Given the description of an element on the screen output the (x, y) to click on. 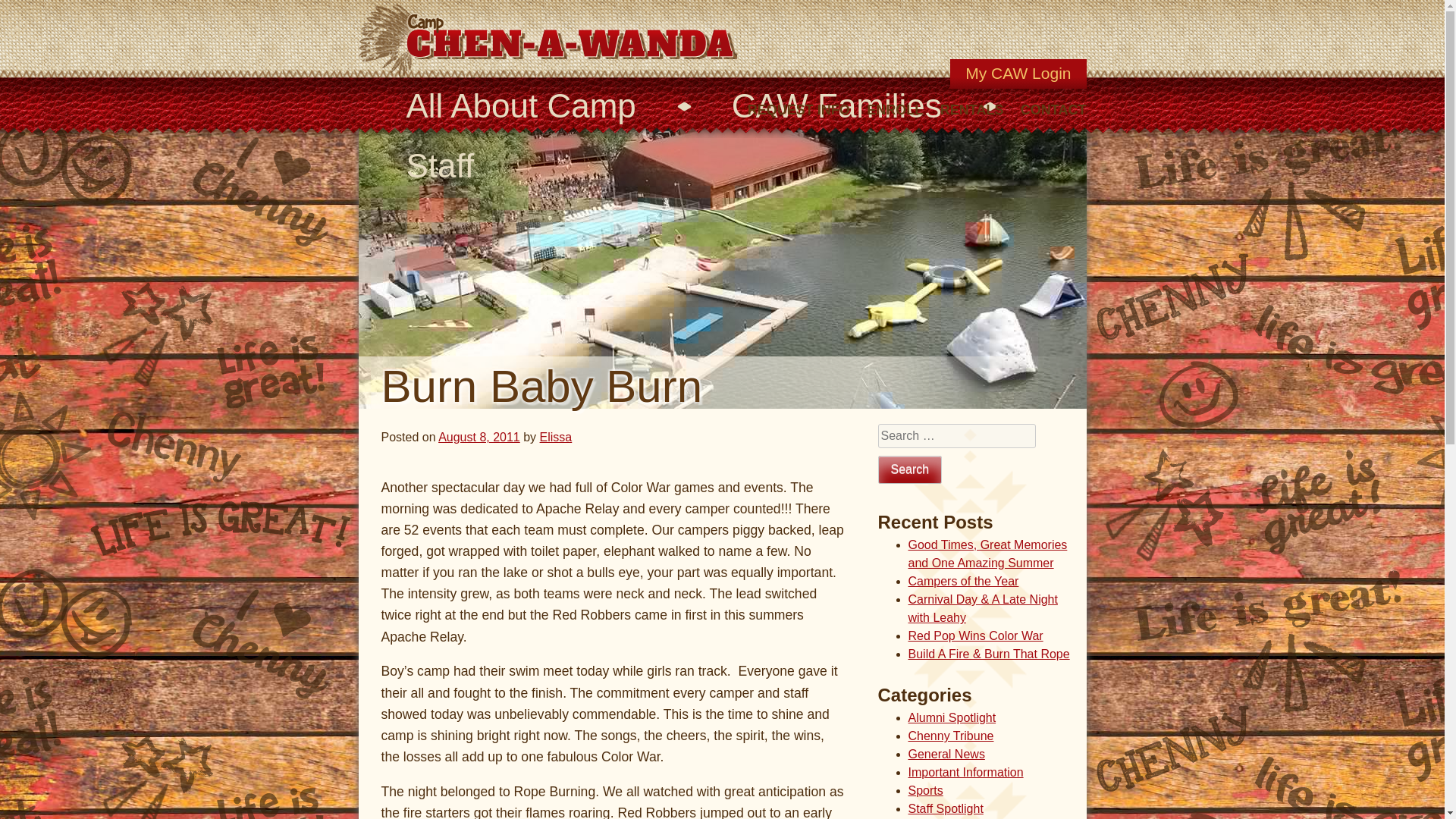
All About Camp (520, 105)
Camp Chen-A-Wanda (550, 40)
Staff (439, 165)
CAW Families (837, 105)
Search (909, 469)
Search (909, 469)
